Given the description of an element on the screen output the (x, y) to click on. 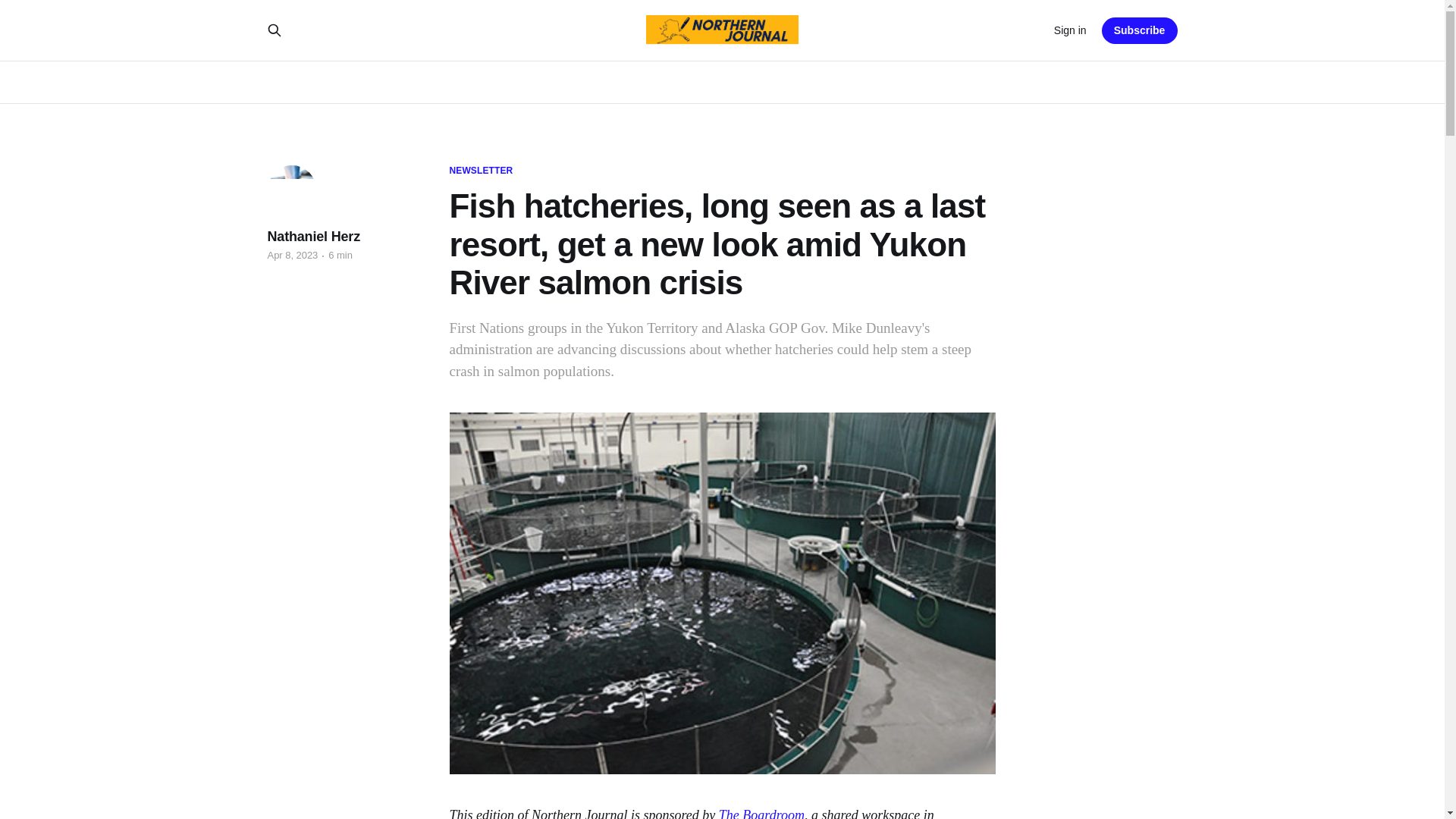
Nathaniel Herz (312, 236)
Subscribe (1139, 29)
The Boardroom (762, 813)
Sign in (1070, 30)
NEWSLETTER (480, 170)
